Given the description of an element on the screen output the (x, y) to click on. 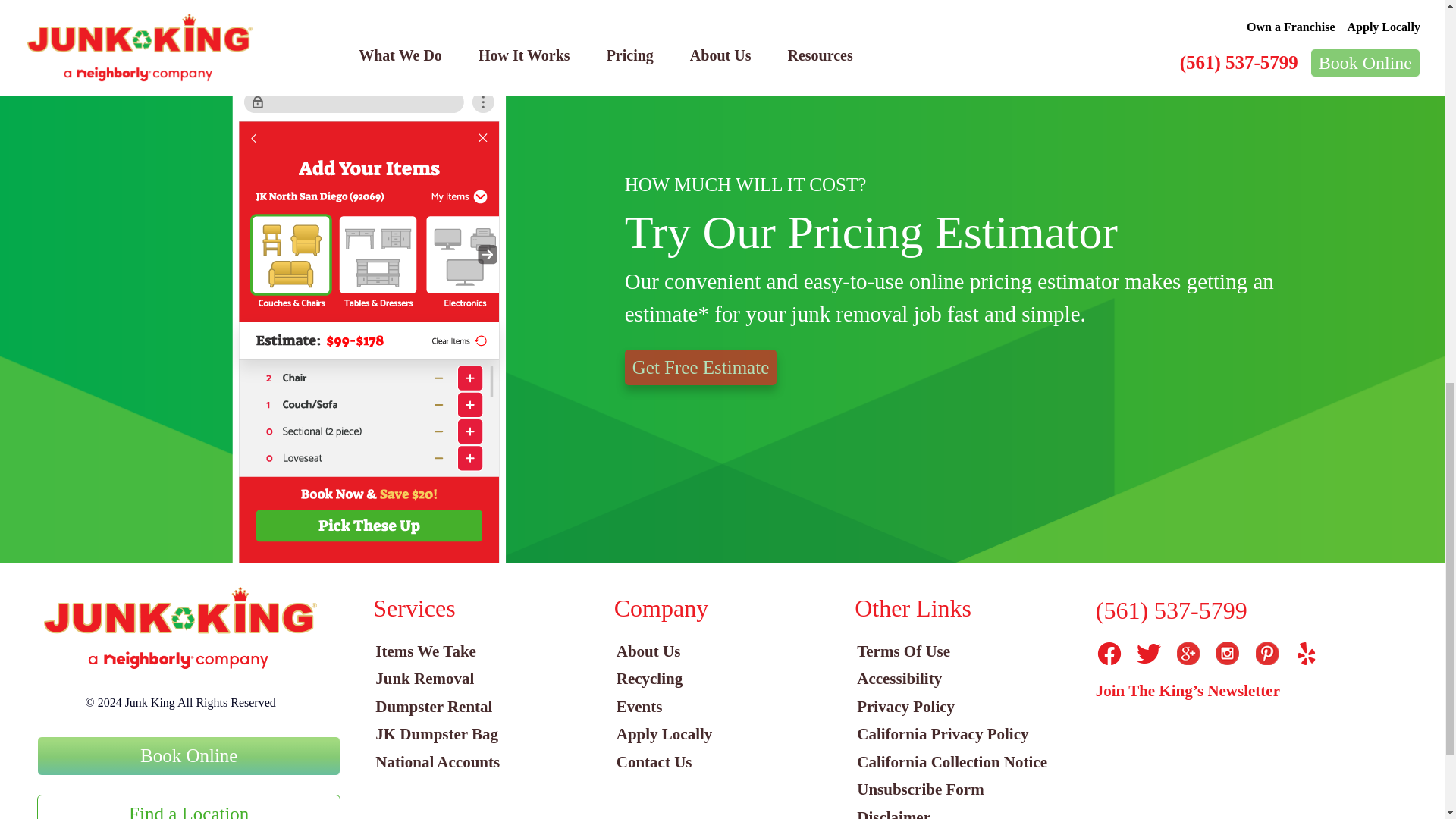
Facebook (1109, 653)
Blog Content Section (722, 12)
logo (180, 628)
